Given the description of an element on the screen output the (x, y) to click on. 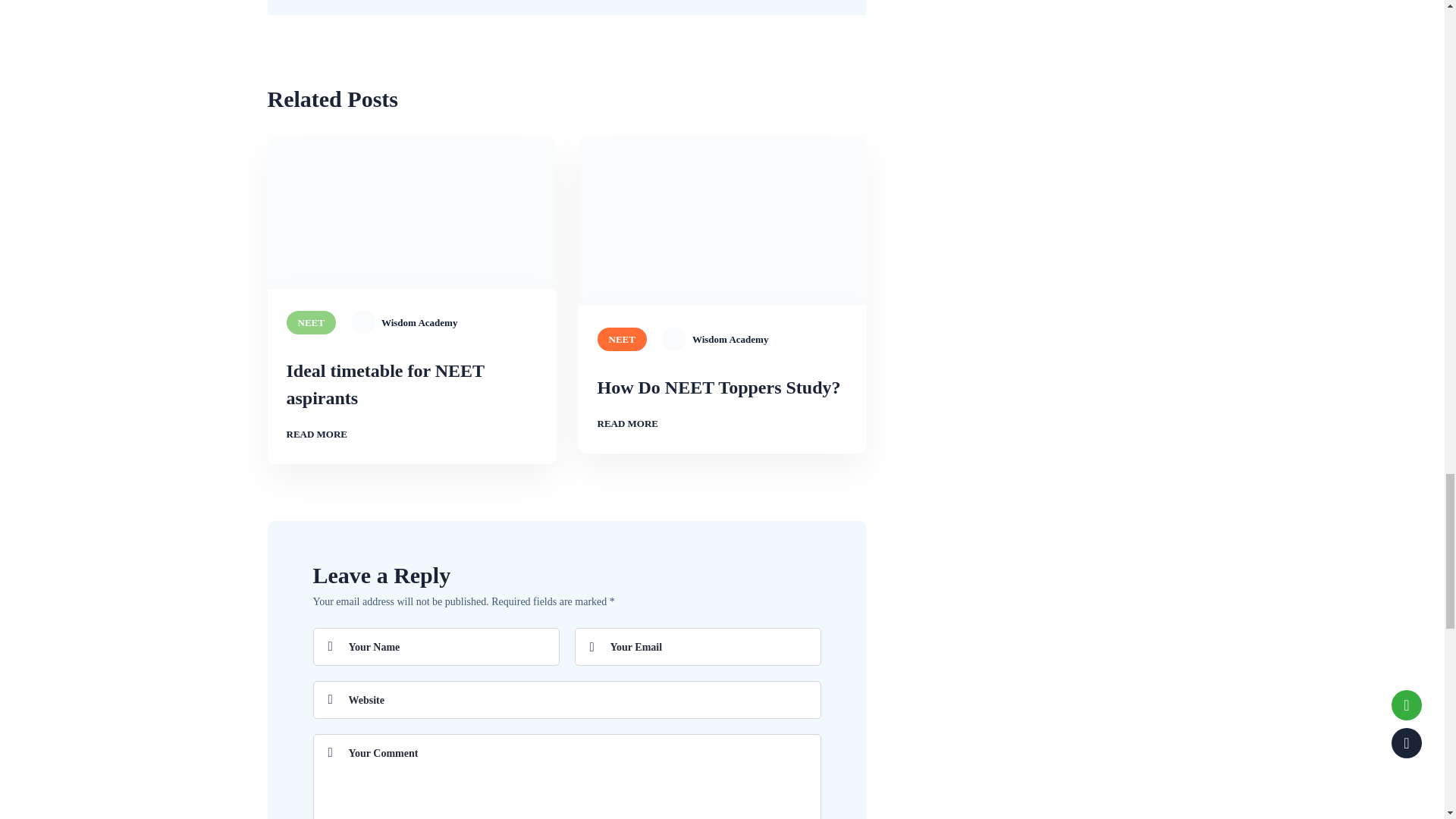
Website (567, 699)
Your Name (436, 646)
Your Email (698, 646)
